Given the description of an element on the screen output the (x, y) to click on. 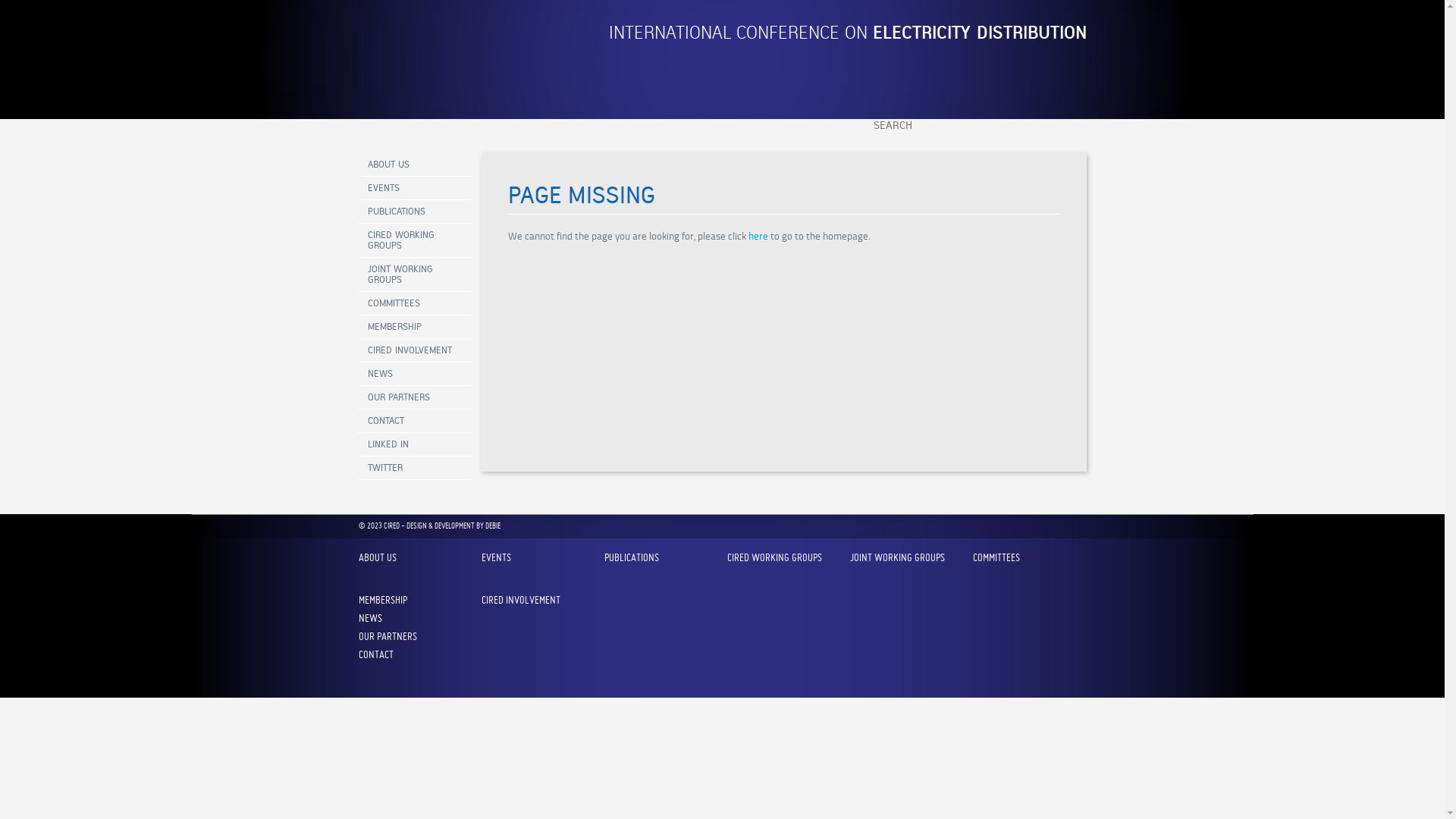
OUR PARTNERS Element type: text (386, 636)
CONTACT Element type: text (414, 421)
TWITTER Element type: text (414, 468)
CIRED WORKING GROUPS Element type: text (414, 240)
OUR PARTNERS Element type: text (414, 397)
COMMITTEES Element type: text (414, 303)
PUBLICATIONS Element type: text (414, 211)
EVENTS Element type: text (414, 188)
NEWS Element type: text (369, 617)
CIRED - international conference on electricity distribution Element type: text (414, 78)
JOINT WORKING GROUPS Element type: text (414, 274)
NEWS Element type: text (414, 373)
here Element type: text (757, 236)
CIRED INVOLVEMENT Element type: text (414, 350)
MEMBERSHIP Element type: text (414, 326)
CONTACT Element type: text (374, 654)
LINKED IN Element type: text (414, 444)
ABOUT US Element type: text (414, 164)
DEBIE Element type: text (492, 525)
